Given the description of an element on the screen output the (x, y) to click on. 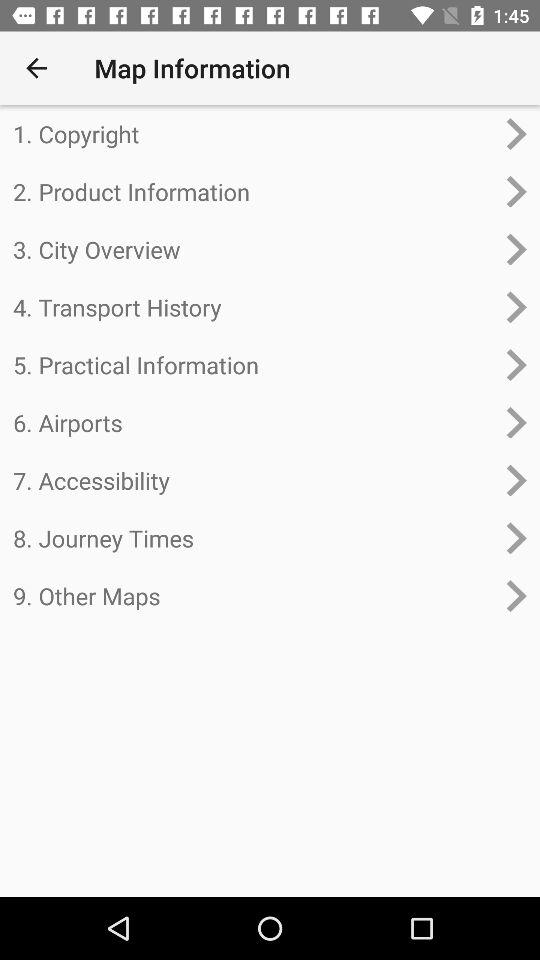
choose 7. accessibility item (253, 480)
